Given the description of an element on the screen output the (x, y) to click on. 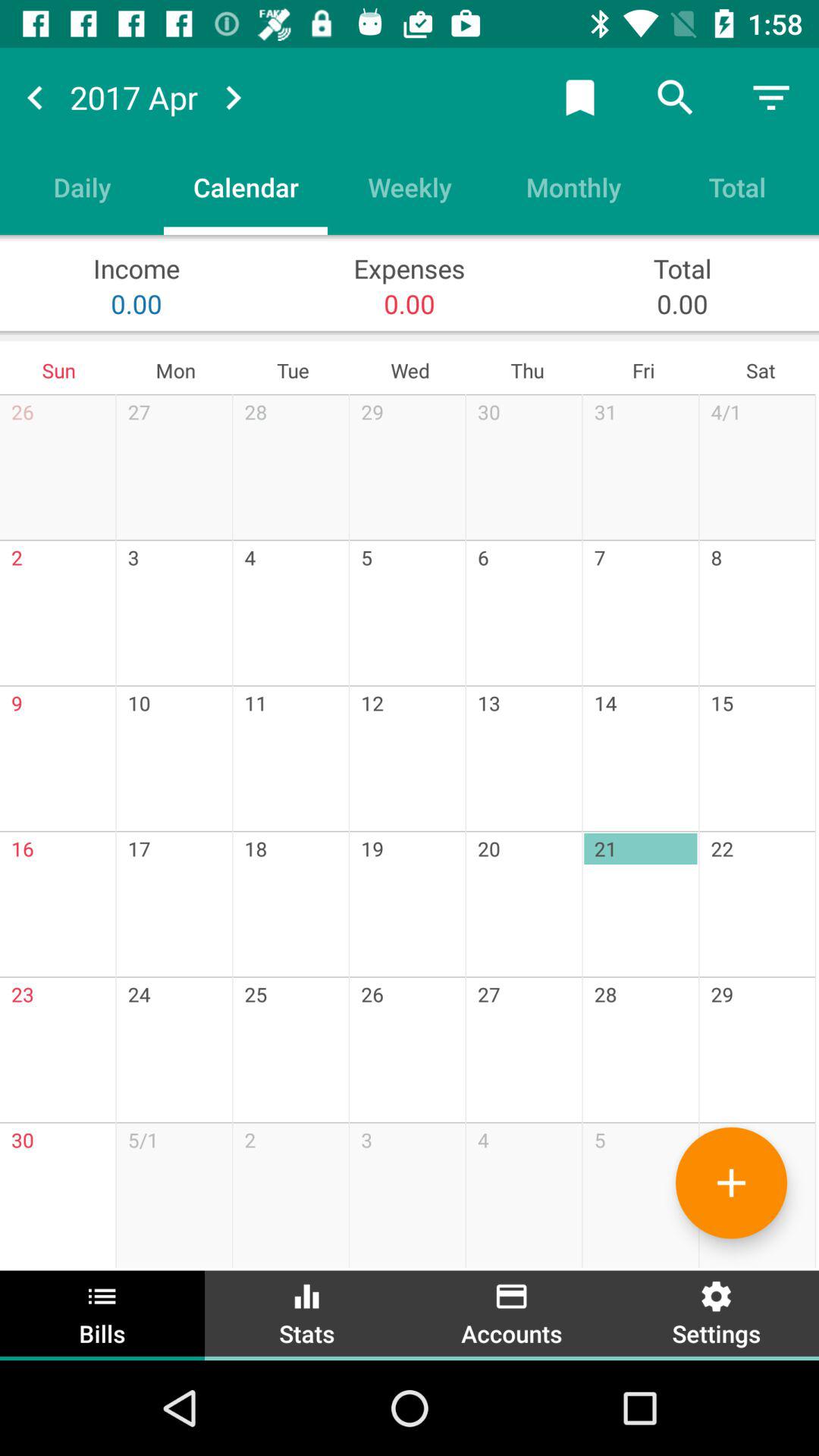
choose item to the left of monthly item (409, 186)
